Given the description of an element on the screen output the (x, y) to click on. 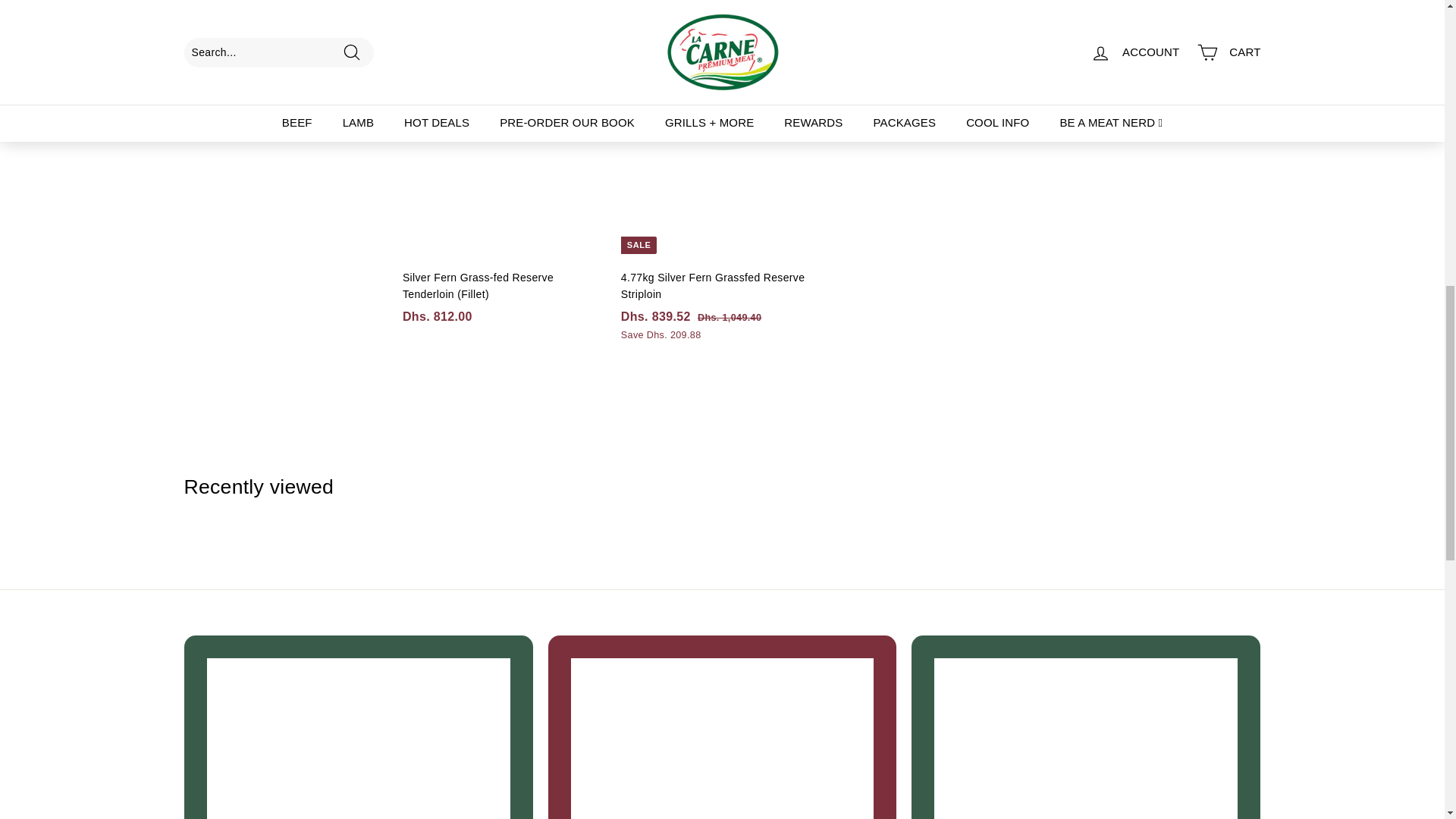
Small (1225, 24)
List (1252, 24)
Large (1197, 24)
